Given the description of an element on the screen output the (x, y) to click on. 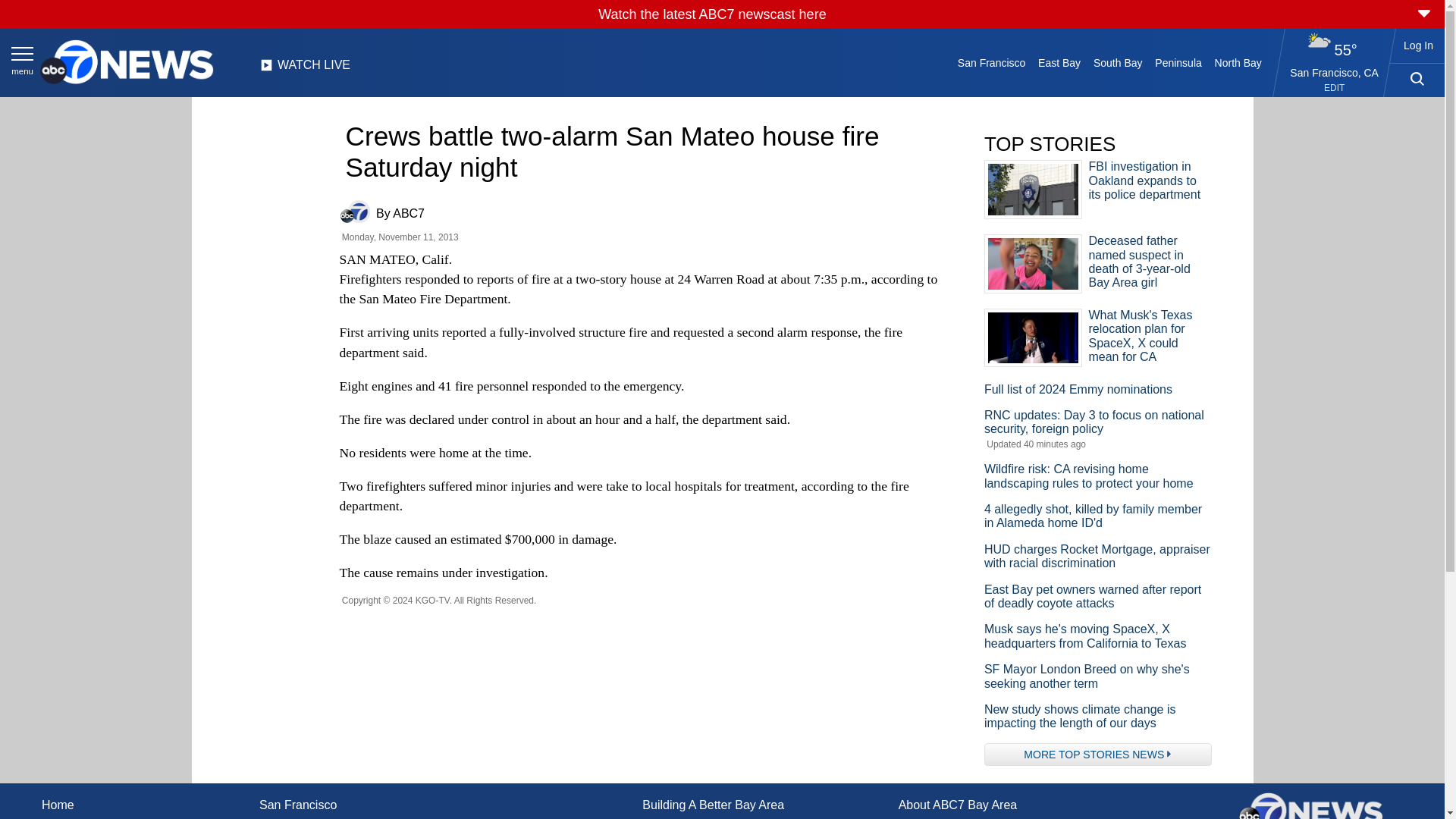
Peninsula (1178, 62)
San Francisco, CA (1334, 72)
South Bay (1117, 62)
EDIT (1333, 87)
North Bay (1238, 62)
WATCH LIVE (305, 69)
East Bay (1059, 62)
San Francisco (990, 62)
